Given the description of an element on the screen output the (x, y) to click on. 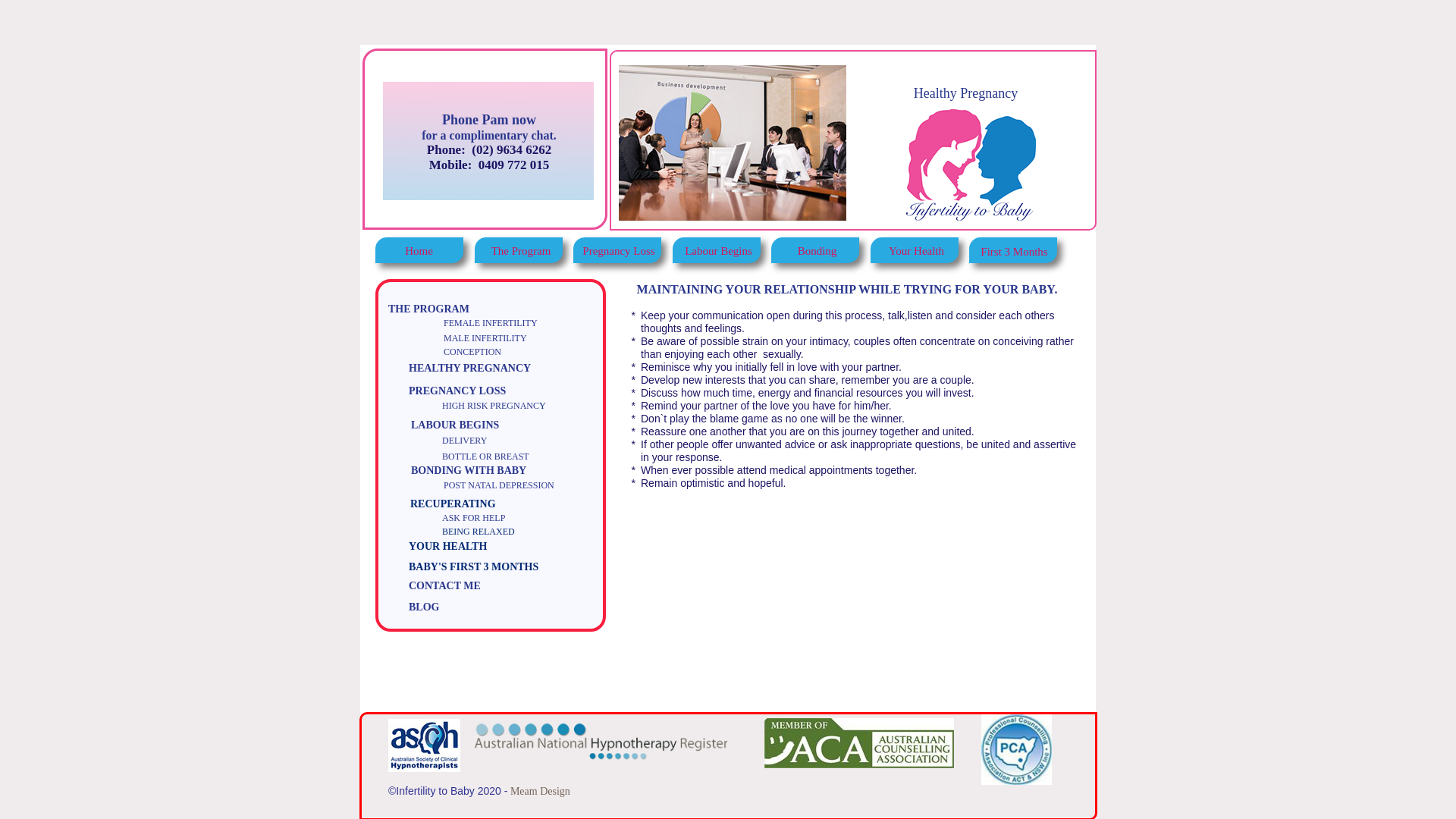
CONTACT ME Element type: text (444, 585)
RECUPERATING Element type: text (473, 505)
YOUR HEALTH Element type: text (458, 546)
HEALTHY PREGNANCY Element type: text (469, 367)
BOTTLE OR BREAST Element type: text (485, 456)
BABY'S FIRST 3 MONTHS Element type: text (476, 567)
Your Health Element type: text (916, 251)
LABOUR BEGINS Element type: text (454, 424)
MALE INFERTILITY Element type: text (485, 337)
CONCEPTION Element type: text (472, 351)
Home Element type: text (418, 250)
HIGH RISK PREGNANC Element type: text (490, 405)
BLOG Element type: text (423, 606)
BONDING WITH BABY Element type: text (468, 470)
ASK FOR HELP Element type: text (473, 517)
DELIVERY Element type: text (464, 440)
Bonding Element type: text (817, 250)
POST NATAL DEPRESSION Element type: text (498, 485)
THE PROGRAM Element type: text (428, 308)
FEMALE INFERTILITY Element type: text (490, 322)
The Program Element type: text (520, 251)
Labour Begins Element type: text (718, 251)
Pregnancy Loss Element type: text (618, 251)
BEING RELAXED Element type: text (496, 534)
First 3 Months Element type: text (1013, 251)
PREGNANCY LOSS Element type: text (456, 390)
Meam Design Element type: text (538, 791)
